Given the description of an element on the screen output the (x, y) to click on. 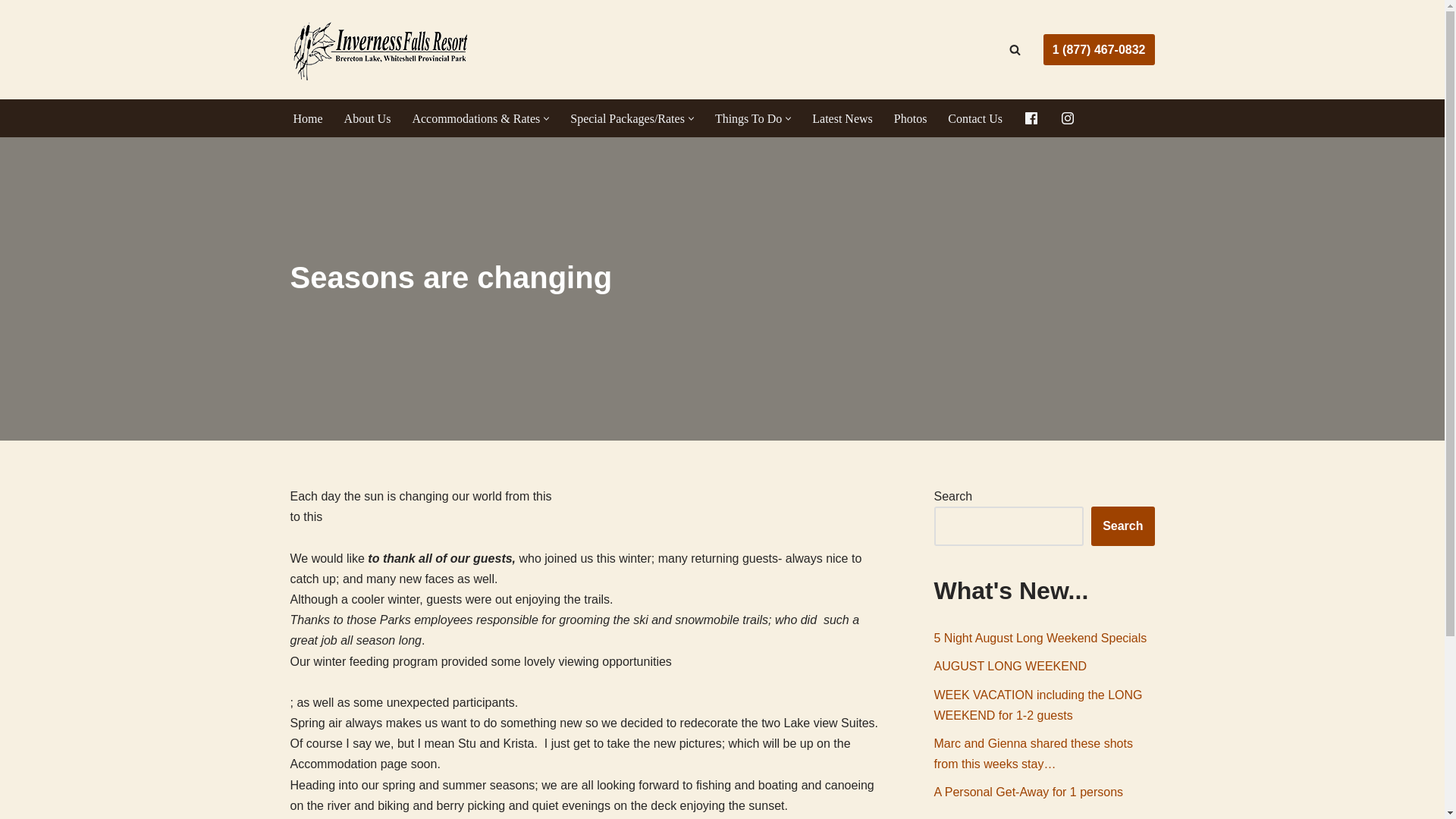
Home (306, 118)
About Us (367, 118)
Things To Do (747, 118)
Skip to content (11, 31)
Latest News (842, 118)
